Given the description of an element on the screen output the (x, y) to click on. 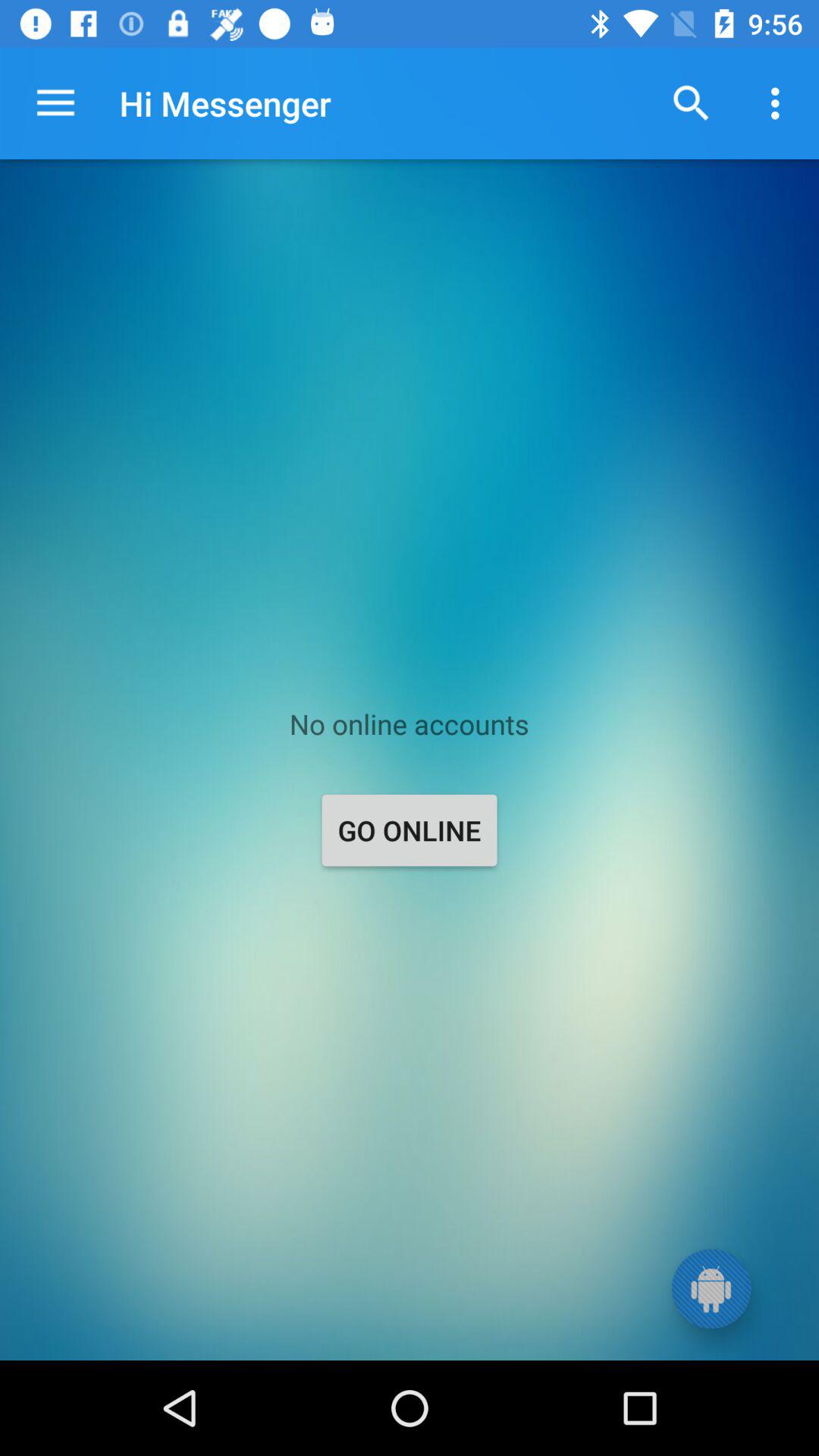
turn on icon next to hi messenger app (691, 103)
